Given the description of an element on the screen output the (x, y) to click on. 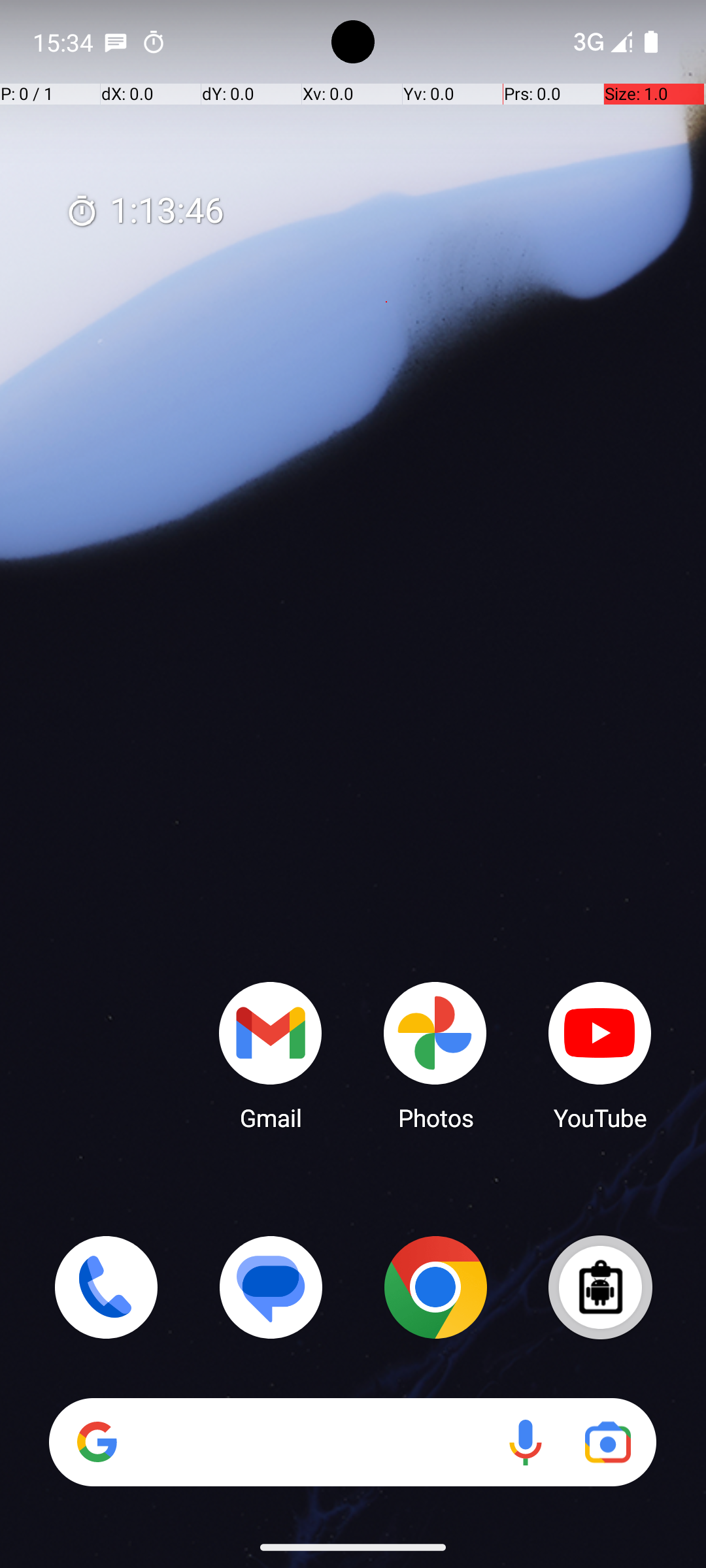
Clipper Element type: android.widget.TextView (599, 1287)
1:13:47 Element type: android.widget.TextView (144, 210)
